Given the description of an element on the screen output the (x, y) to click on. 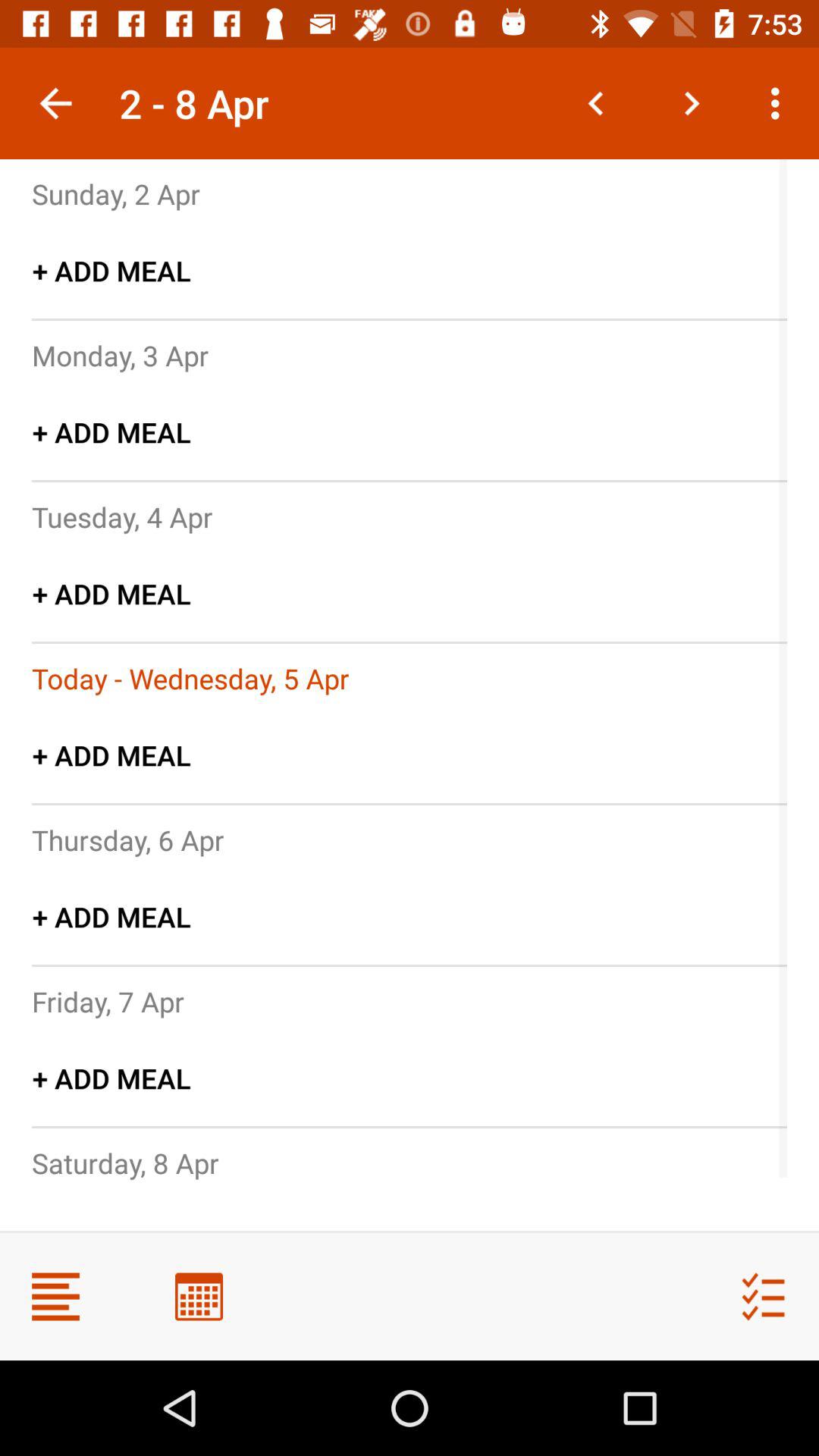
launch the item above the + add meal (107, 1001)
